Given the description of an element on the screen output the (x, y) to click on. 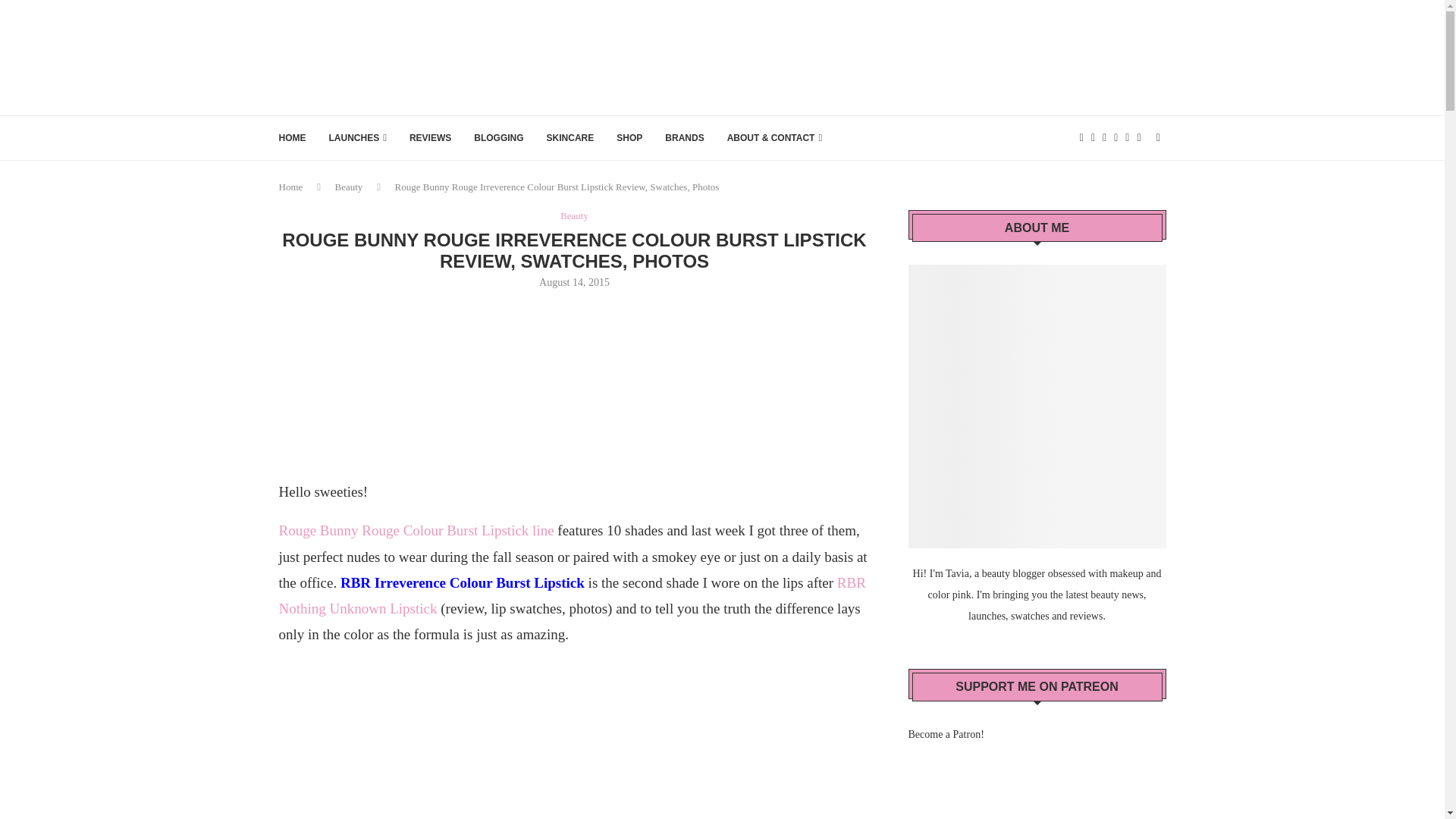
SHOP (628, 137)
RBR Nothing Unknown Lipstick (572, 595)
LAUNCHES (358, 137)
BRANDS (684, 137)
Beauty (574, 215)
Rouge Bunny Rouge Colour Burst Lipstick line (416, 530)
Advertisement (574, 382)
Beauty (348, 186)
BLOGGING (498, 137)
REVIEWS (430, 137)
Home (290, 186)
HOME (292, 137)
SKINCARE (570, 137)
